Given the description of an element on the screen output the (x, y) to click on. 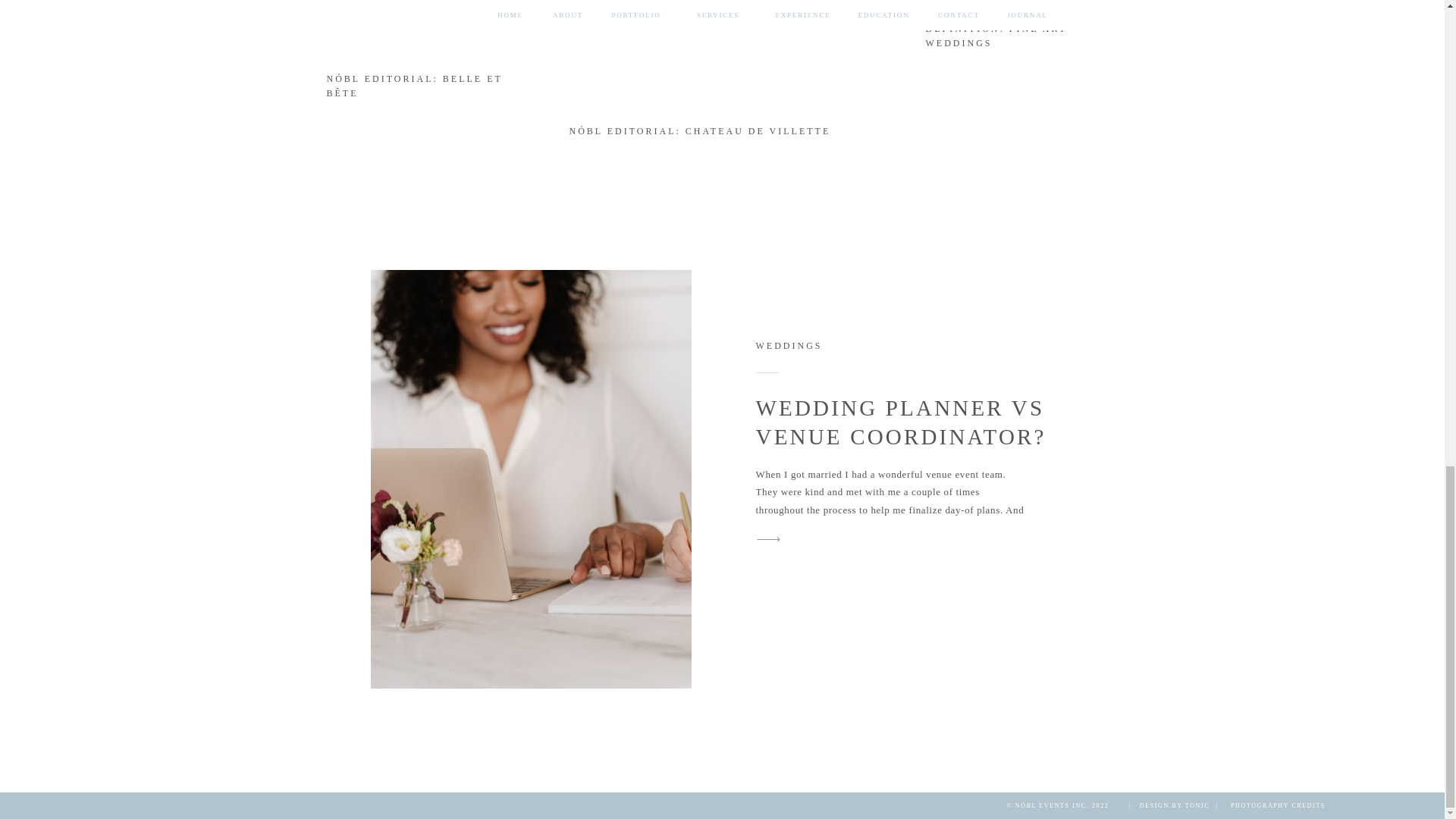
Wedding Planner vs Venue Coordinator? (768, 539)
arrow (1104, 101)
arrow (768, 539)
